Given the description of an element on the screen output the (x, y) to click on. 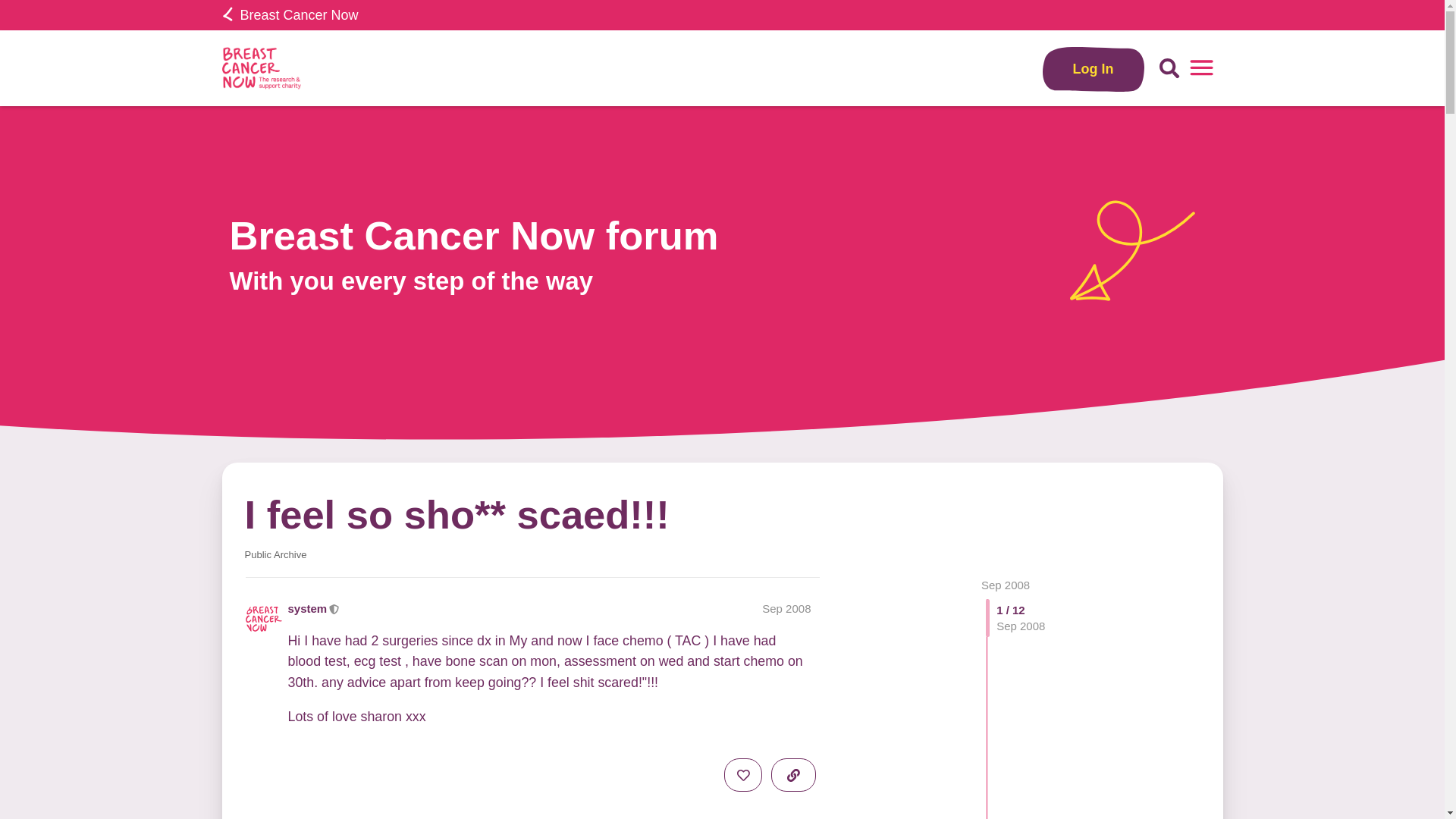
menu (1201, 67)
Sep 2008 (785, 608)
Public Archive (274, 554)
Archived posts which are available to view. (274, 554)
copy a link to this post to clipboard (793, 774)
system (307, 608)
Sep 2008 (1005, 584)
Log In (1093, 68)
Sep 2008 (1005, 584)
Post date (785, 608)
Search (1169, 68)
like this post (742, 774)
This user is a moderator (334, 608)
Breast Cancer Now (289, 15)
